Given the description of an element on the screen output the (x, y) to click on. 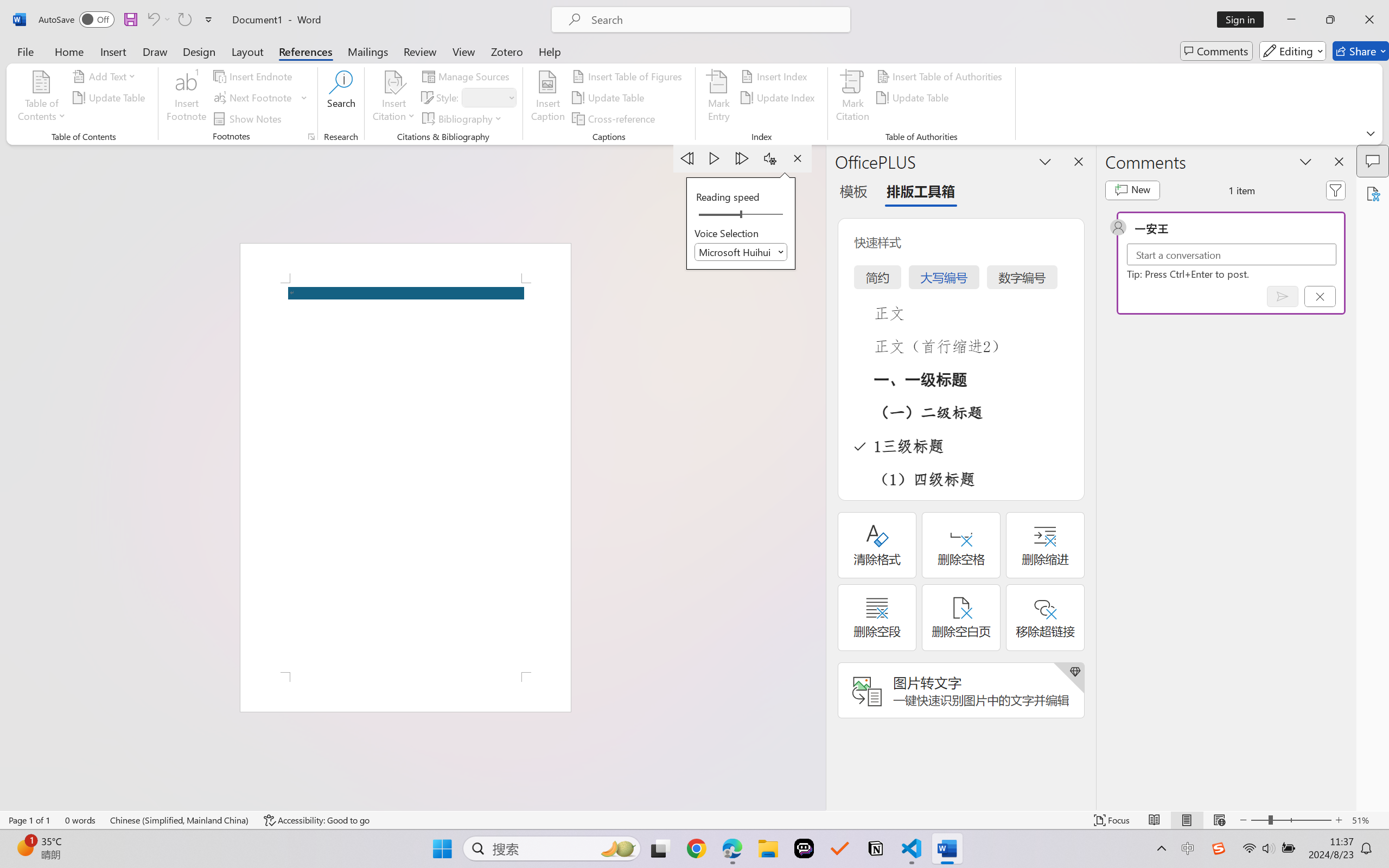
Table of Contents (42, 97)
Next Paragraph (743, 158)
Post comment (Ctrl + Enter) (1282, 296)
Reading speed (740, 214)
Sign in (1244, 19)
Page right (765, 214)
Insert Citation (393, 97)
